Given the description of an element on the screen output the (x, y) to click on. 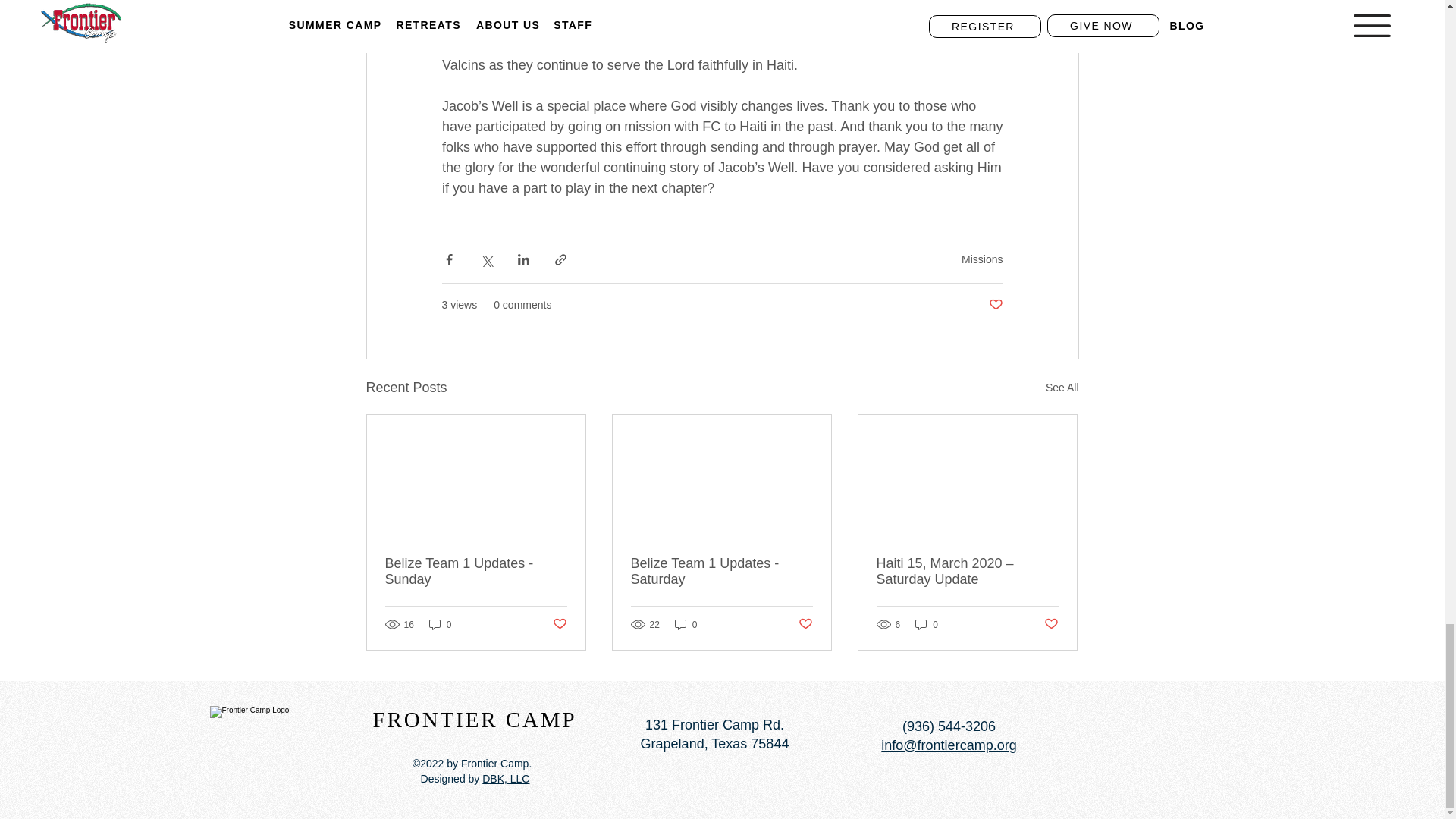
2020LogoRetina2.png (269, 737)
DBK, LLC (505, 778)
Post not marked as liked (1050, 624)
Post not marked as liked (804, 624)
Missions (981, 259)
0 (685, 624)
Belize Team 1 Updates - Saturday (721, 572)
0 (926, 624)
Post not marked as liked (995, 304)
0 (440, 624)
See All (1061, 387)
Post not marked as liked (558, 624)
Belize Team 1 Updates - Sunday (476, 572)
